Given the description of an element on the screen output the (x, y) to click on. 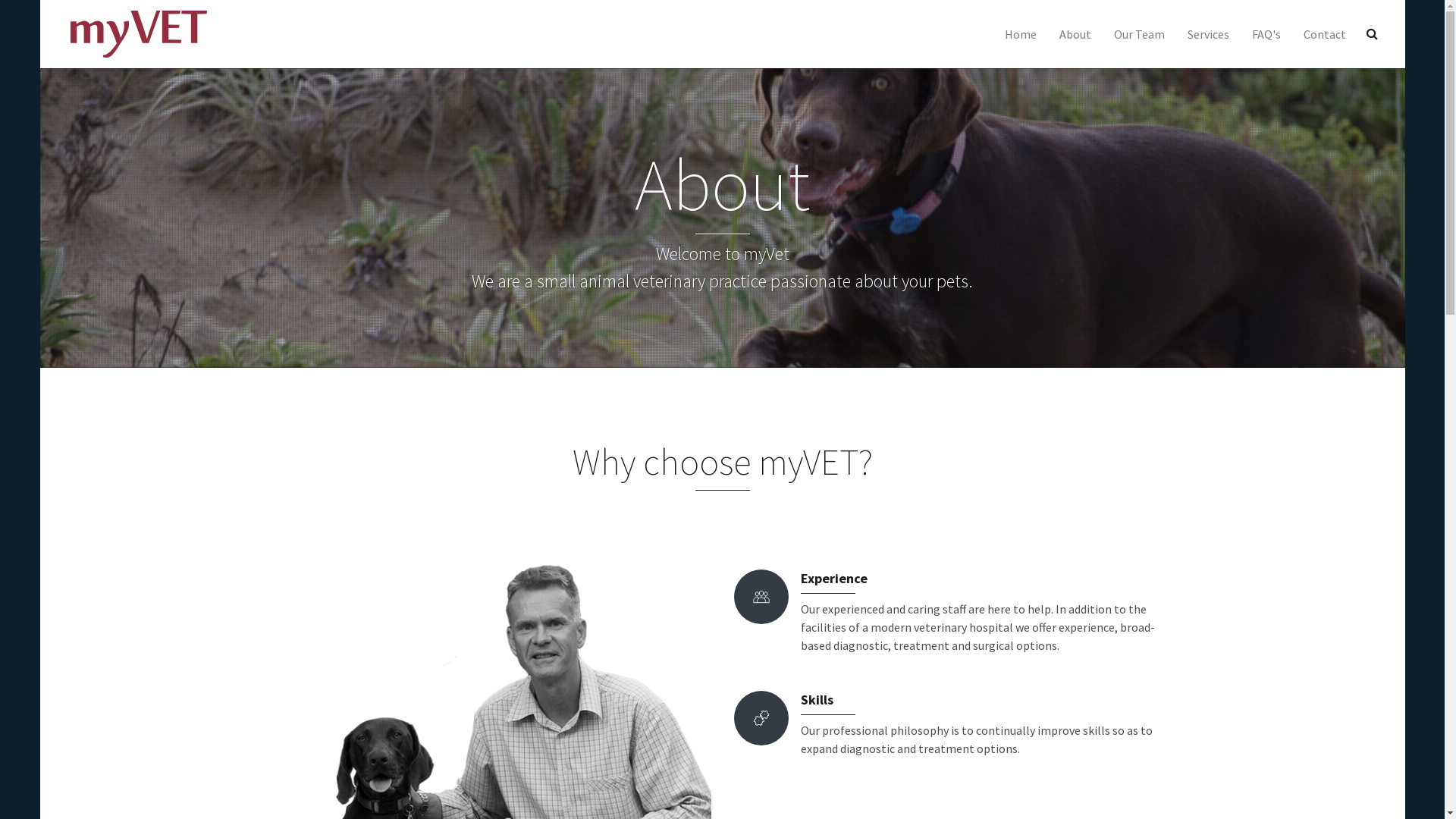
Contact Element type: text (1324, 34)
Home Element type: text (1020, 34)
FAQ's Element type: text (1266, 34)
Our Team Element type: text (1139, 34)
Services Element type: text (1207, 34)
About Element type: text (1075, 34)
